Given the description of an element on the screen output the (x, y) to click on. 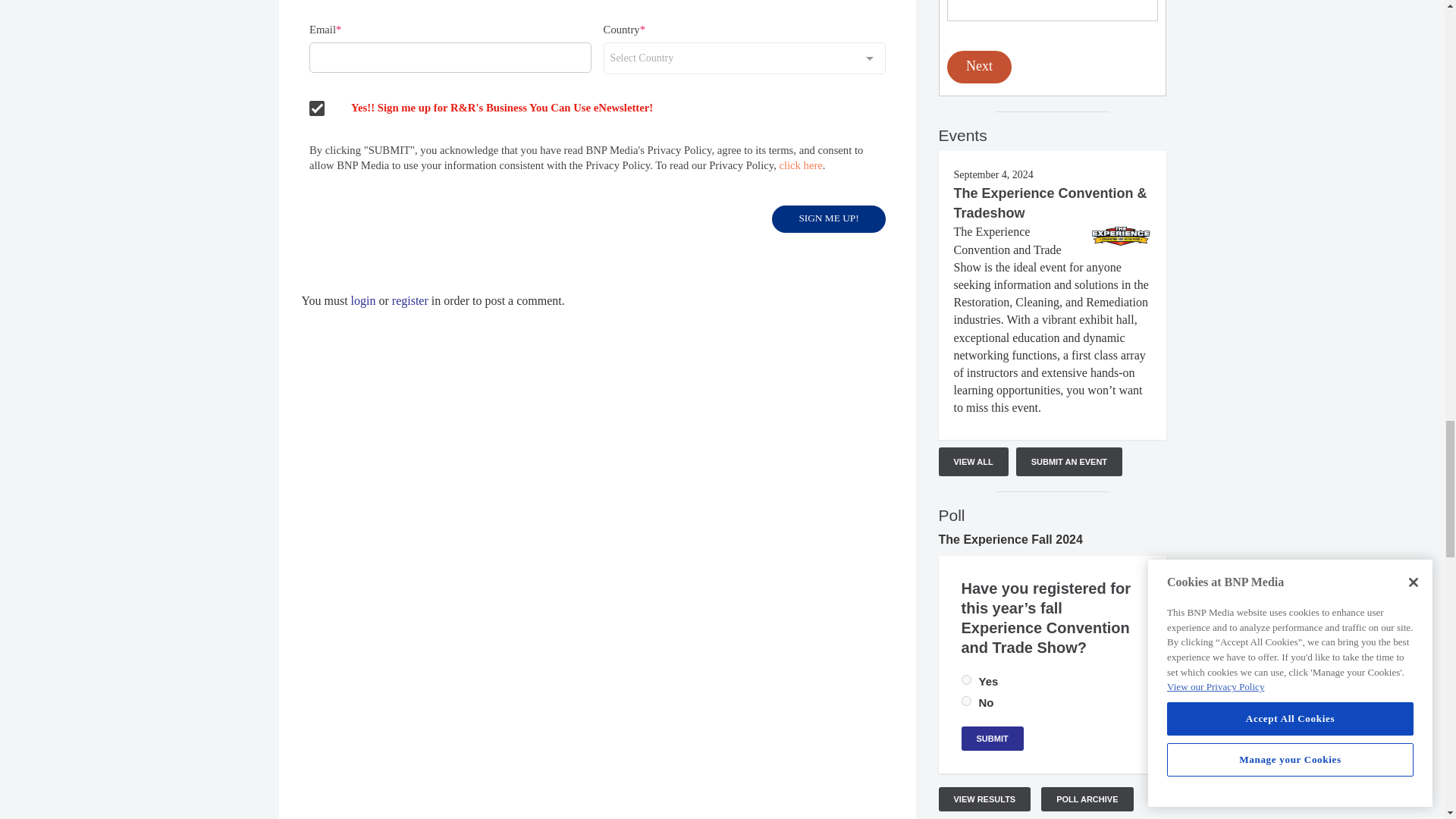
Interaction questions (1051, 45)
Submit (991, 738)
439 (965, 700)
438 (965, 679)
